Given the description of an element on the screen output the (x, y) to click on. 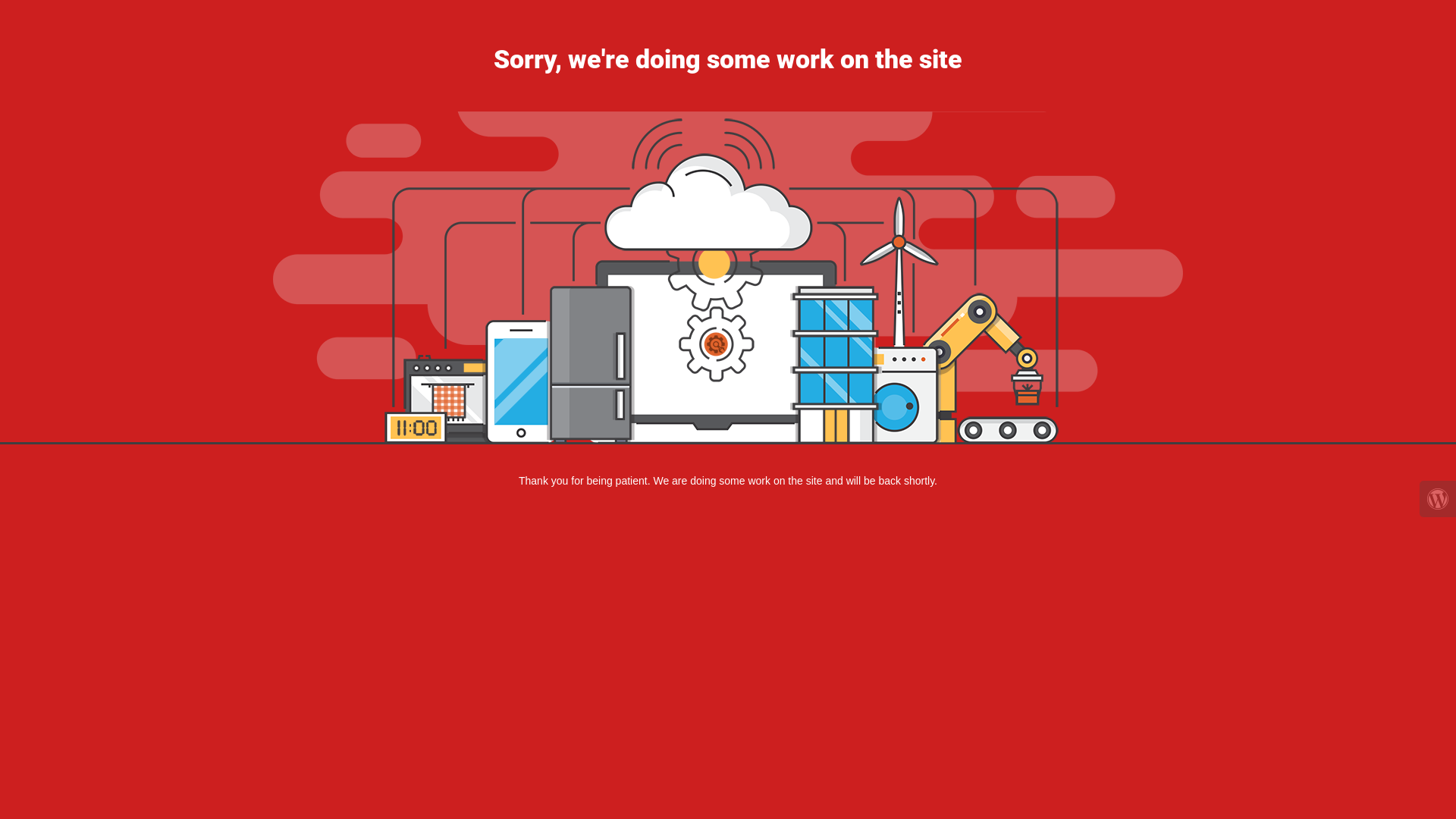
The Internet of Things Element type: hover (728, 277)
